Given the description of an element on the screen output the (x, y) to click on. 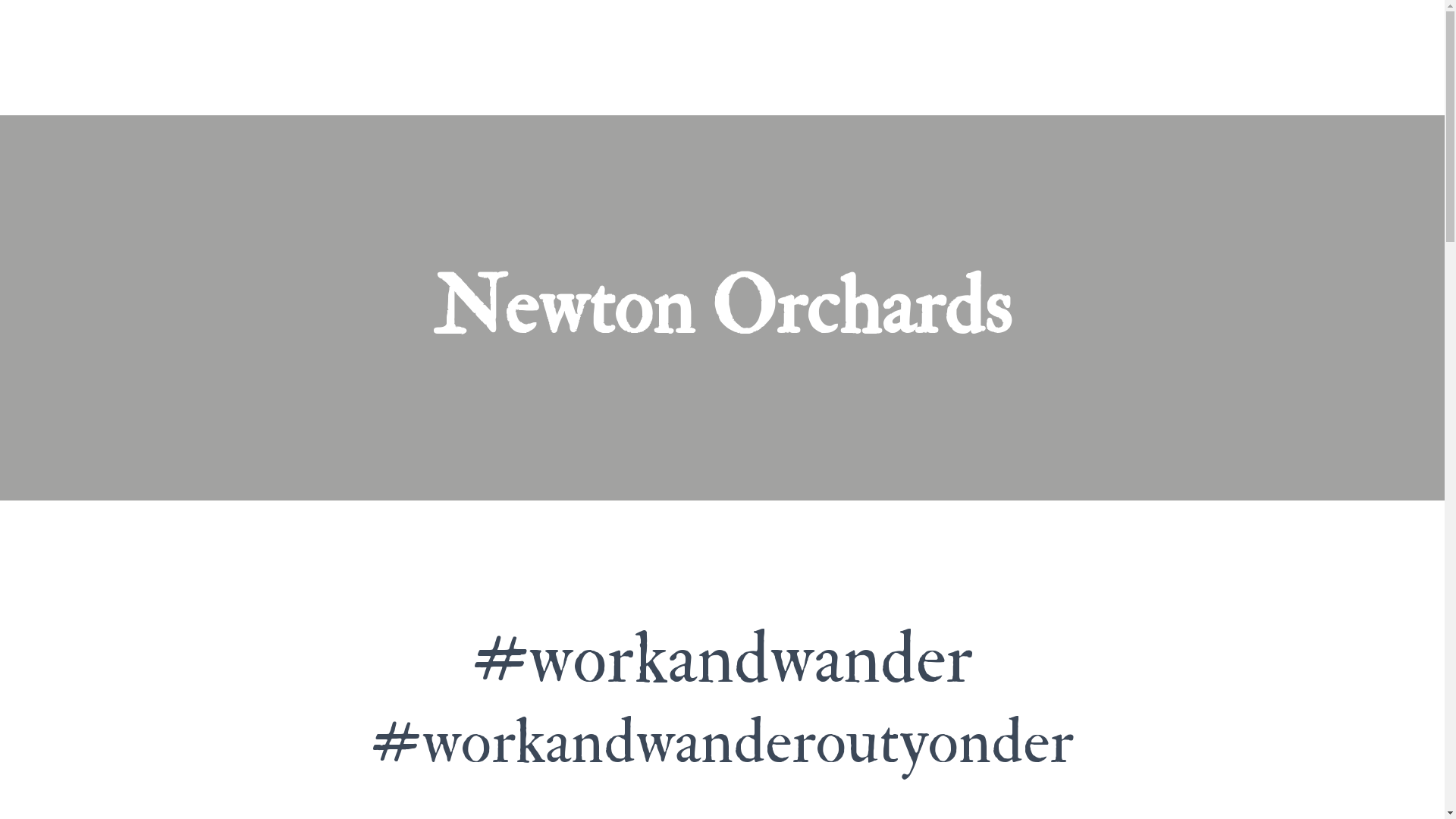
ABOUT US Element type: text (975, 37)
HOME Element type: text (1129, 37)
SIGN UP Element type: text (1037, 37)
FAQ Element type: text (1085, 37)
